Given the description of an element on the screen output the (x, y) to click on. 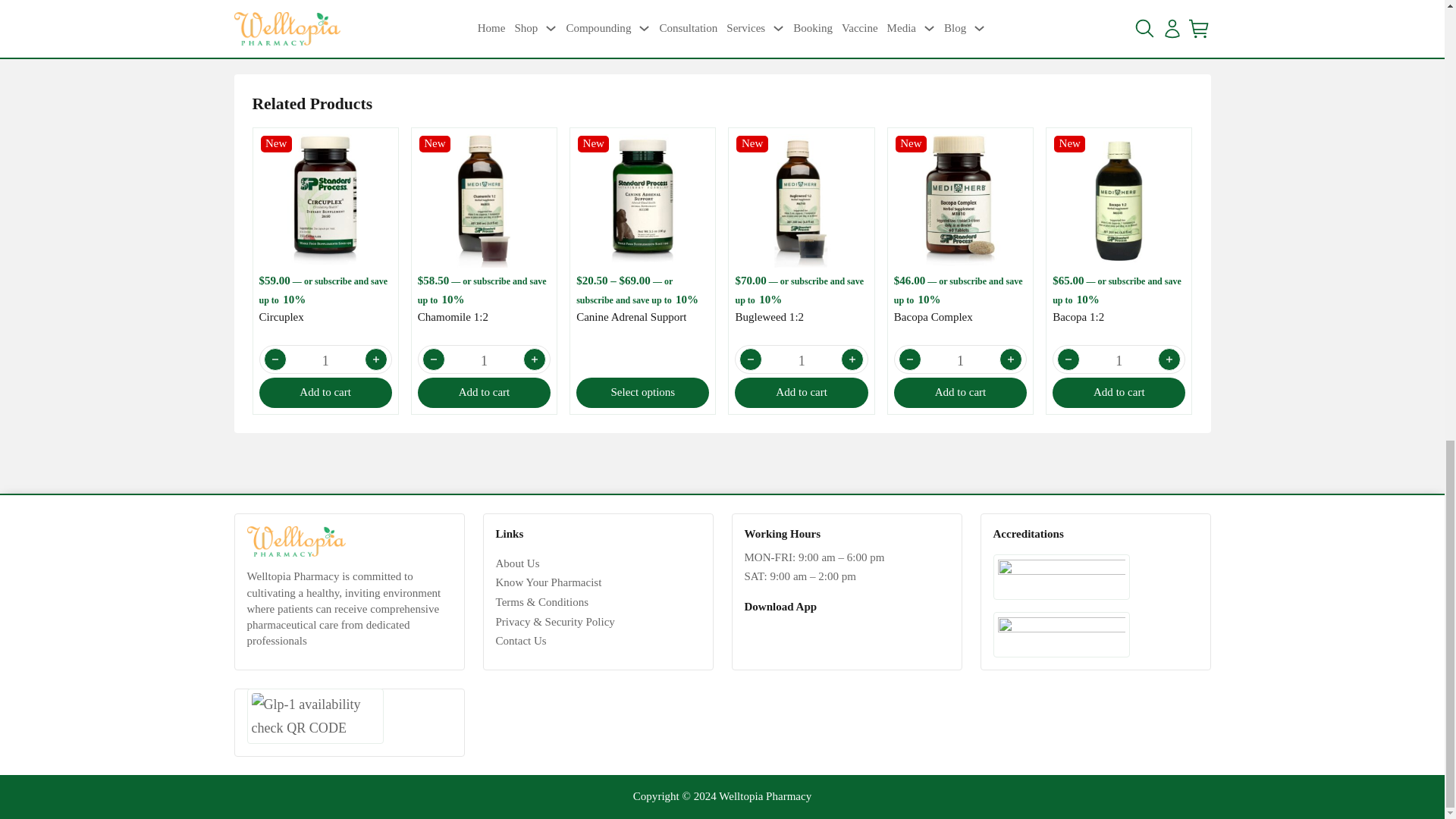
1 (959, 360)
1 (483, 360)
1 (800, 360)
1 (1118, 360)
1 (325, 360)
